Given the description of an element on the screen output the (x, y) to click on. 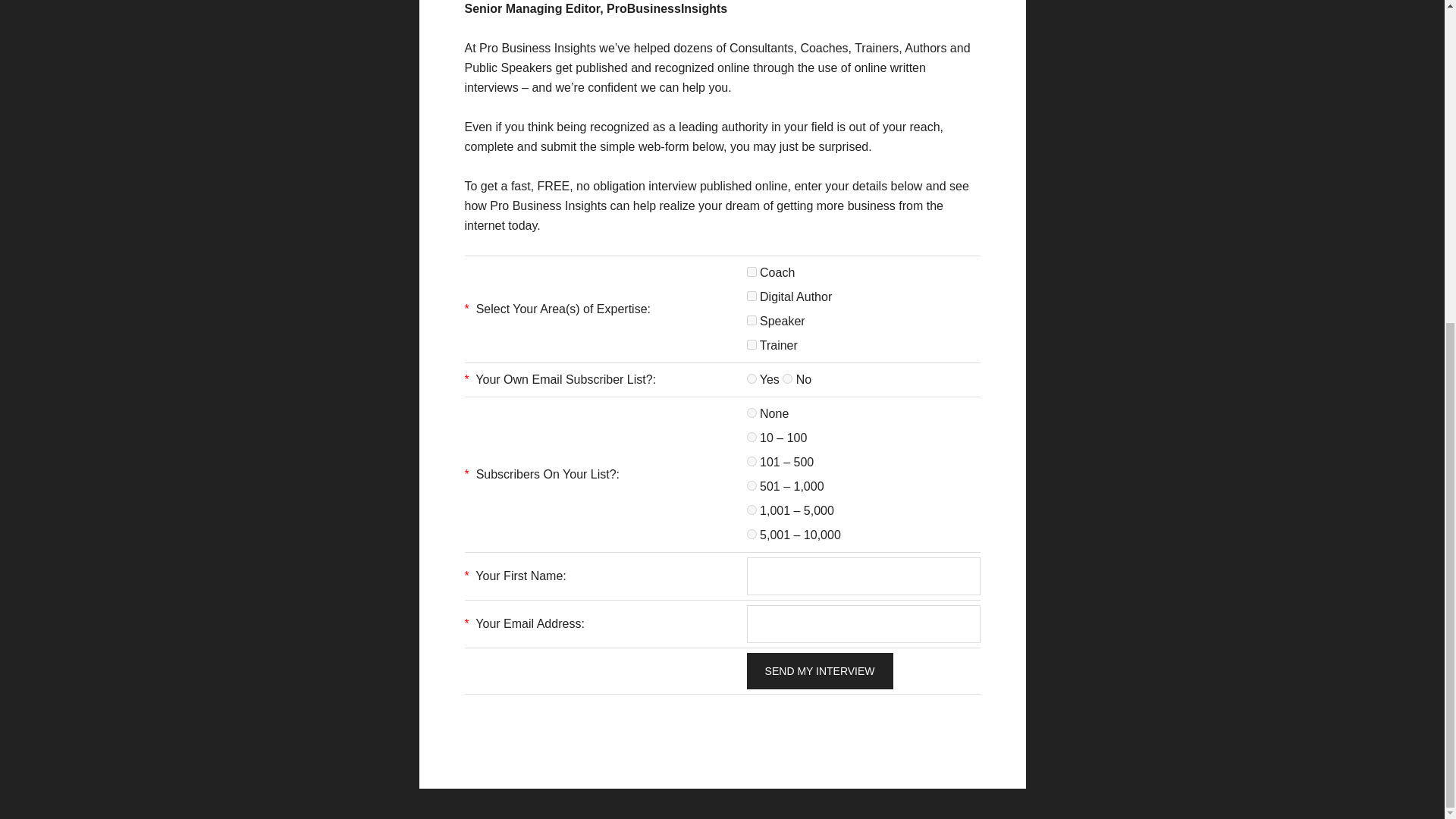
Yes (751, 378)
None (751, 412)
101 - 500 (751, 461)
5001 - 10,000 (751, 533)
1,001 - 5,000 (751, 510)
Send My Interview (819, 670)
Send My Interview (819, 670)
Speaker (751, 320)
Digital Author (751, 296)
No (787, 378)
501 - 1,000 (751, 485)
Trainer (751, 344)
Coach (751, 271)
10 - 100 (751, 437)
